Given the description of an element on the screen output the (x, y) to click on. 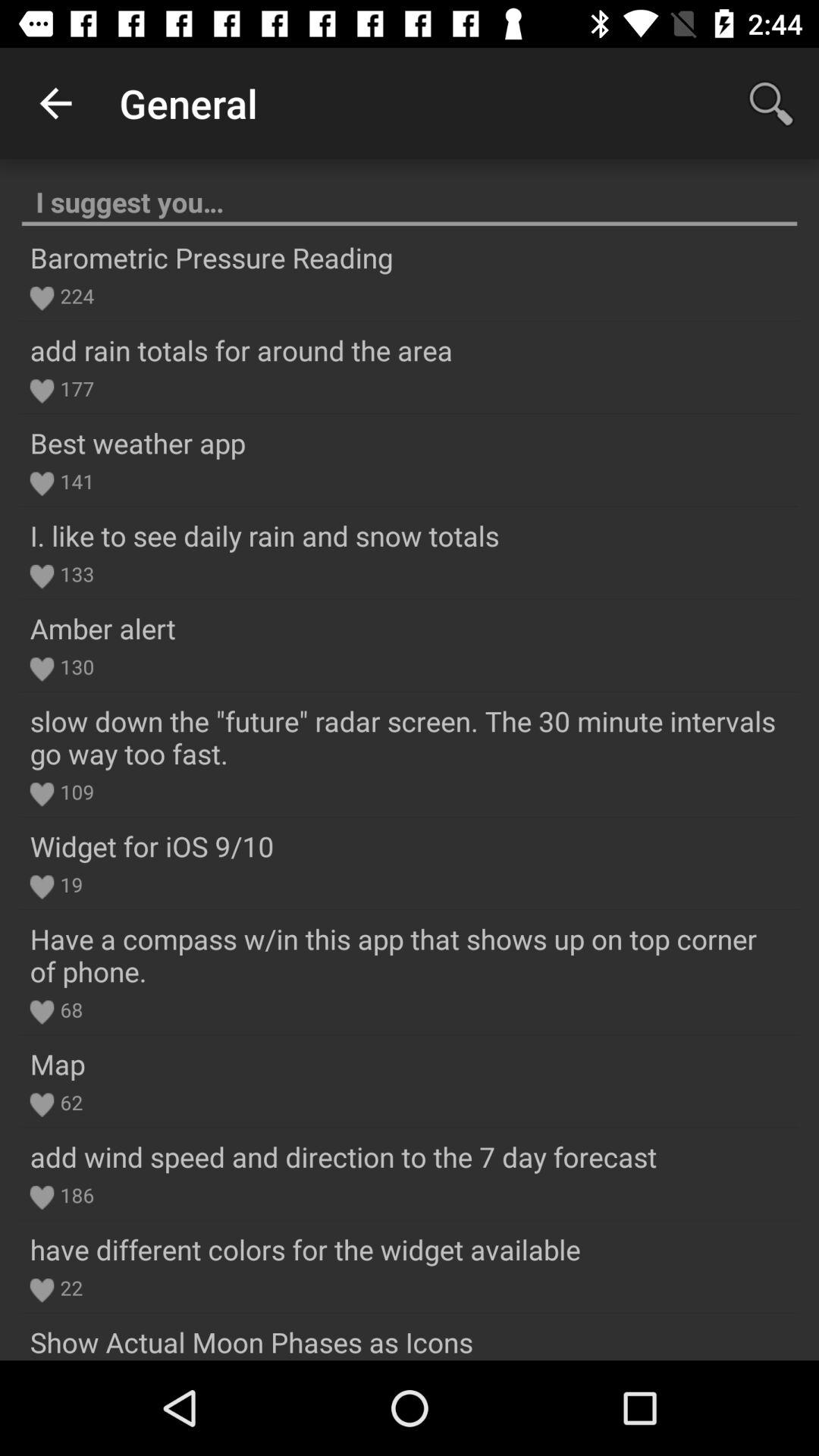
select the item next to general app (771, 103)
